Given the description of an element on the screen output the (x, y) to click on. 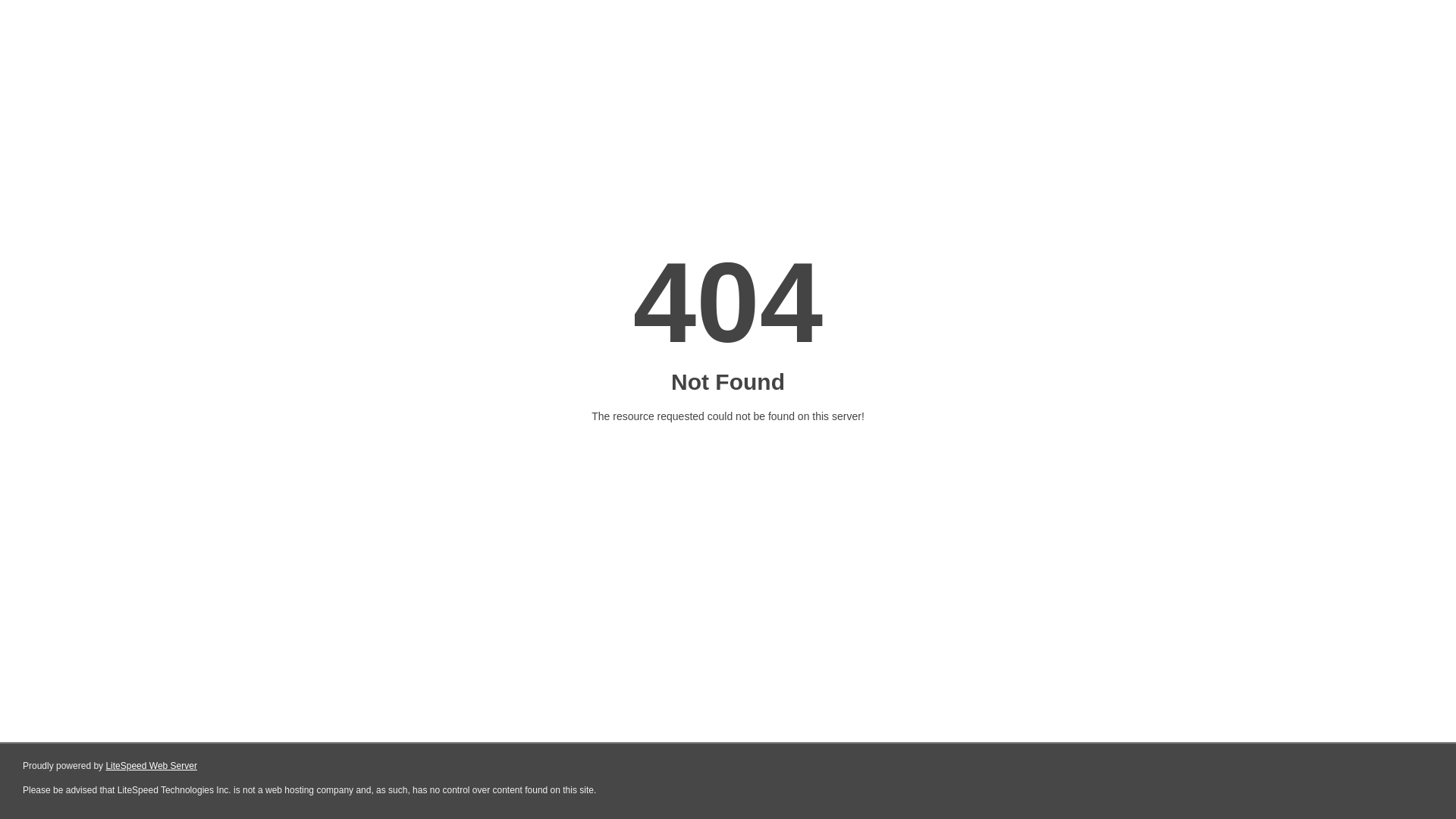
LiteSpeed Web Server Element type: text (151, 765)
